Given the description of an element on the screen output the (x, y) to click on. 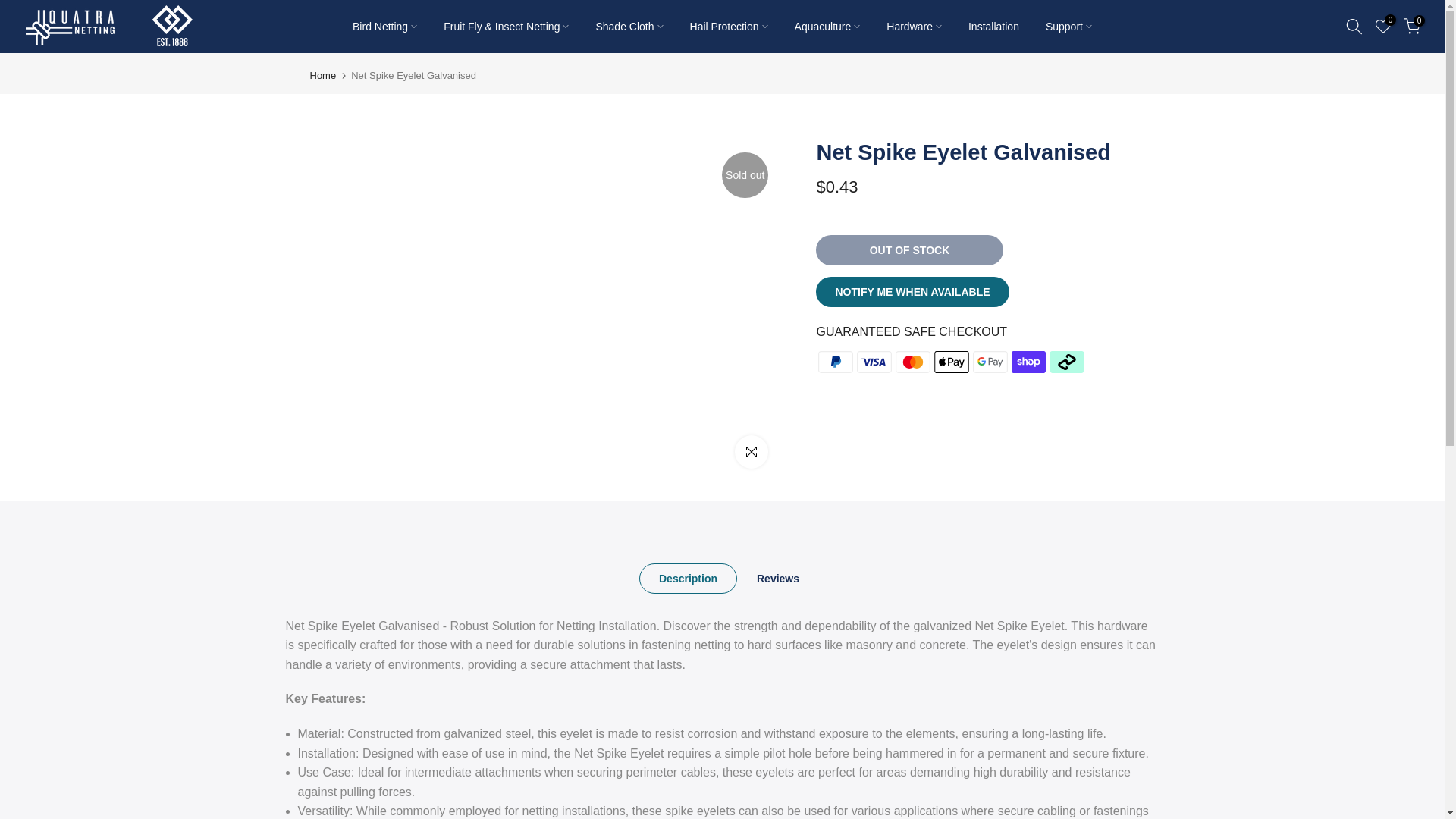
Shade Cloth (629, 26)
Skip to content (10, 7)
Bird Netting (384, 26)
